Given the description of an element on the screen output the (x, y) to click on. 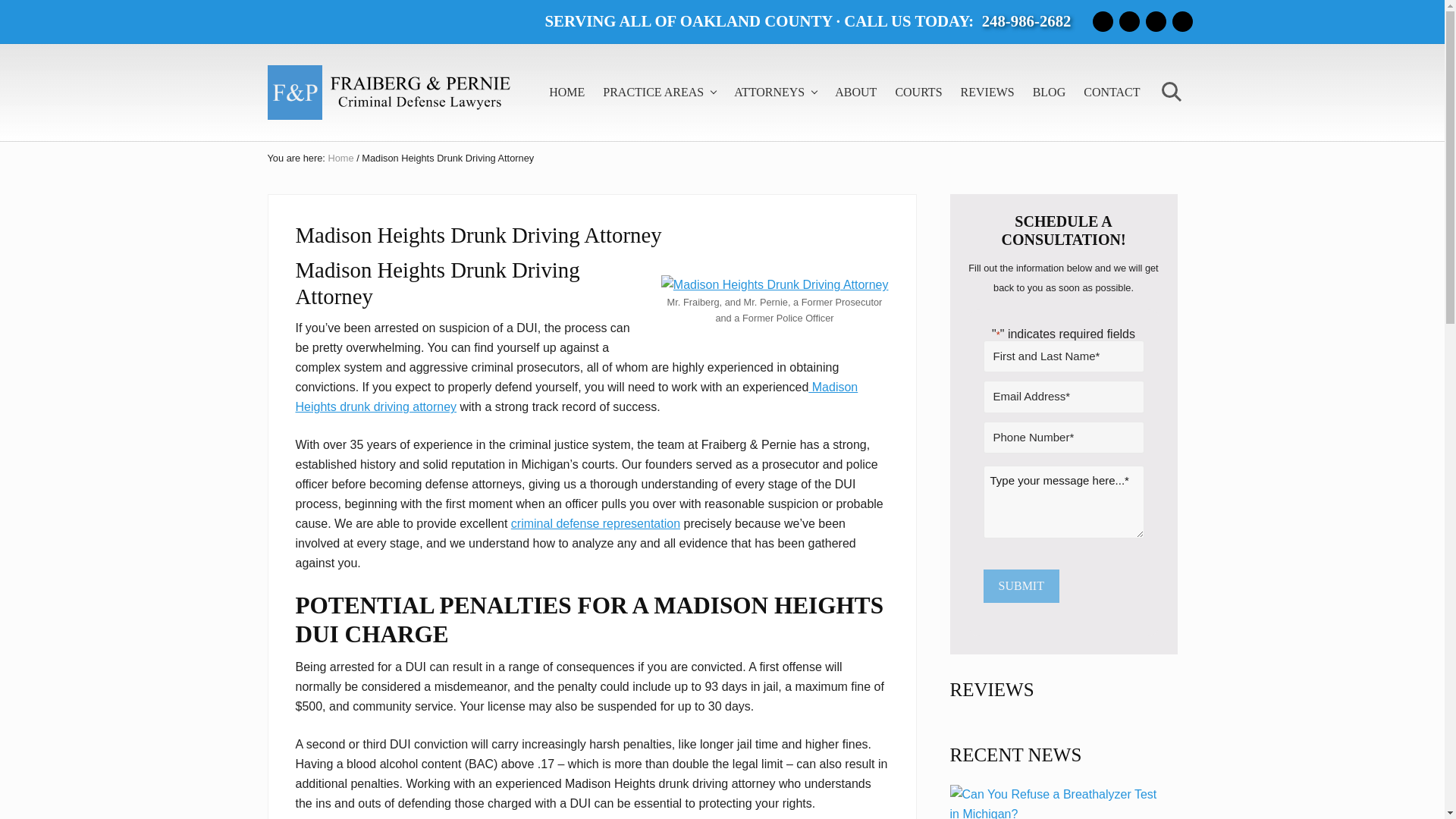
Submit (1020, 585)
Twitter (1182, 21)
Facebook (1102, 21)
LinkedIn (1155, 21)
Instagram (1129, 21)
